Given the description of an element on the screen output the (x, y) to click on. 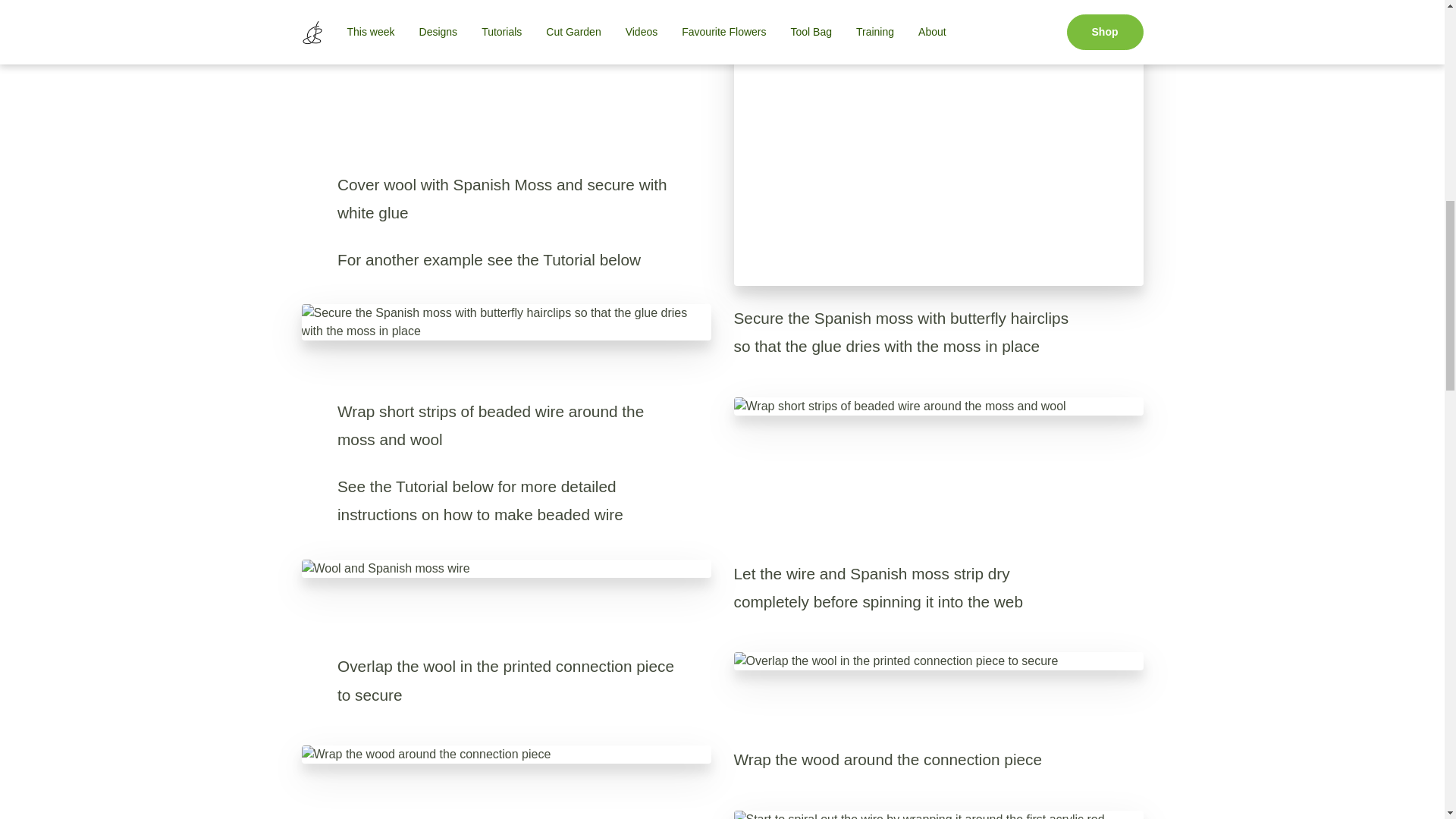
Wool and Spanish moss wire (506, 568)
Cover wool with Spanish Moss (937, 142)
Wrap the wood around the connection piece (506, 754)
Wrap short strips of beaded wire around the moss and wool (937, 406)
Overlap the wool in the printed connection piece to secure (937, 660)
